Given the description of an element on the screen output the (x, y) to click on. 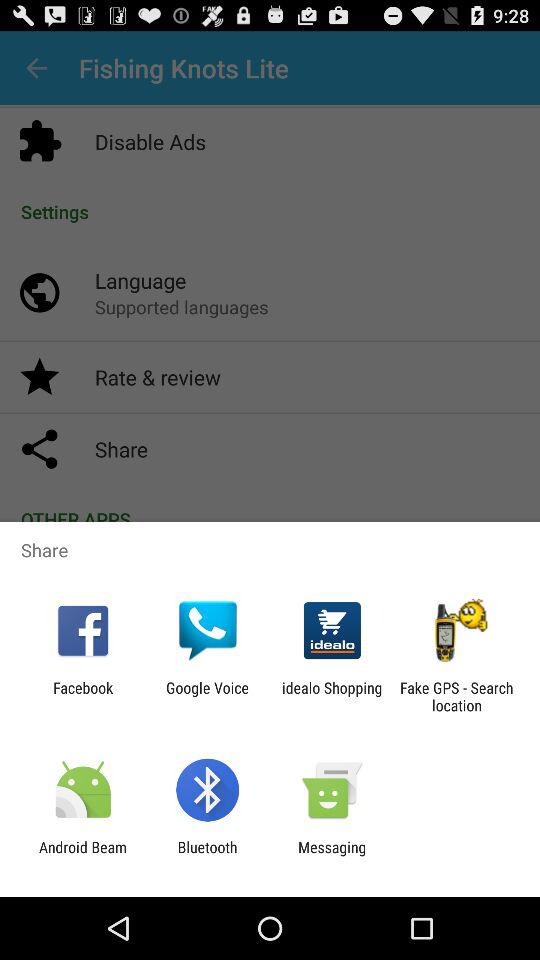
choose the app to the right of the facebook app (207, 696)
